Given the description of an element on the screen output the (x, y) to click on. 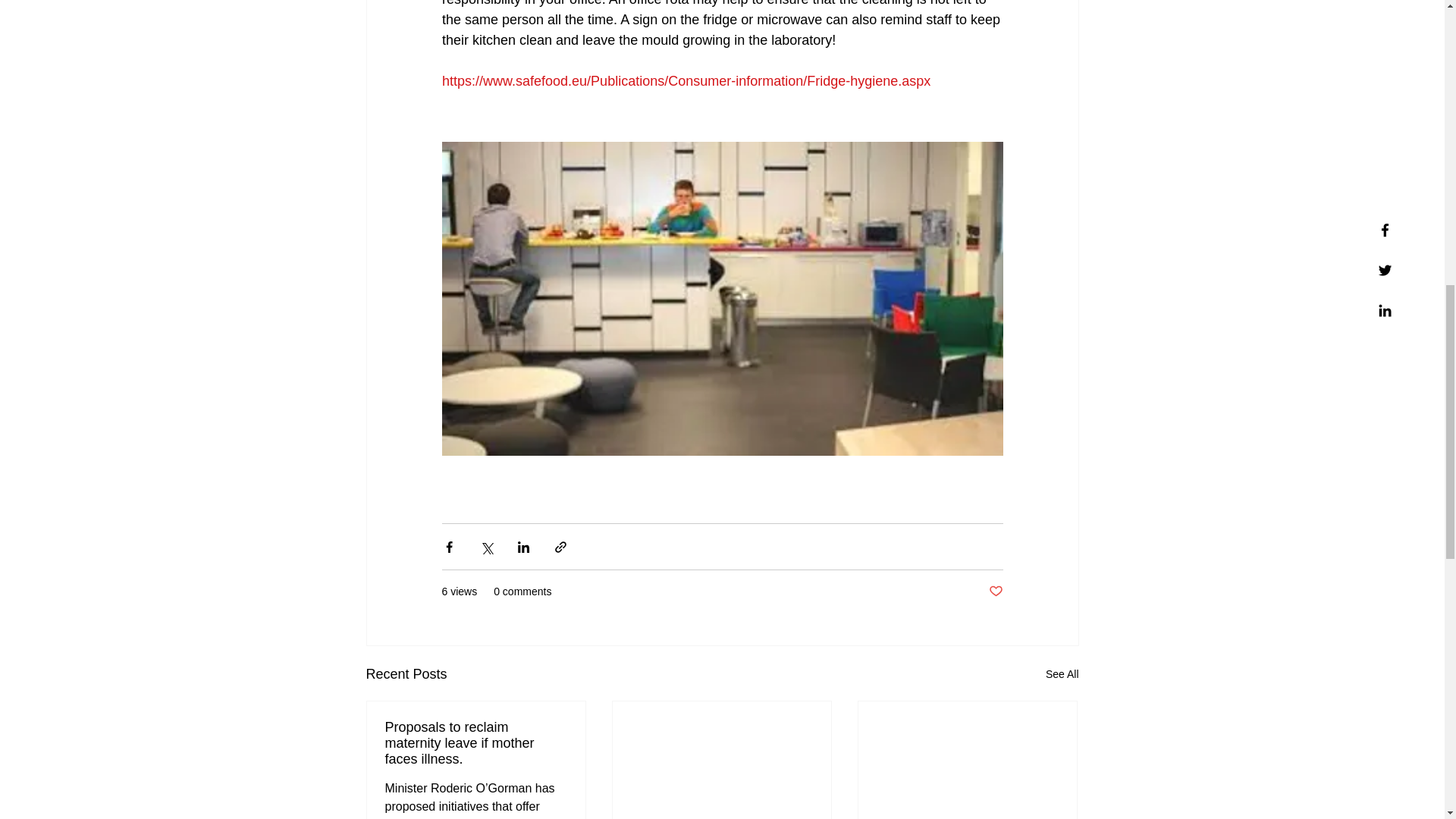
Post not marked as liked (995, 591)
See All (1061, 674)
